Given the description of an element on the screen output the (x, y) to click on. 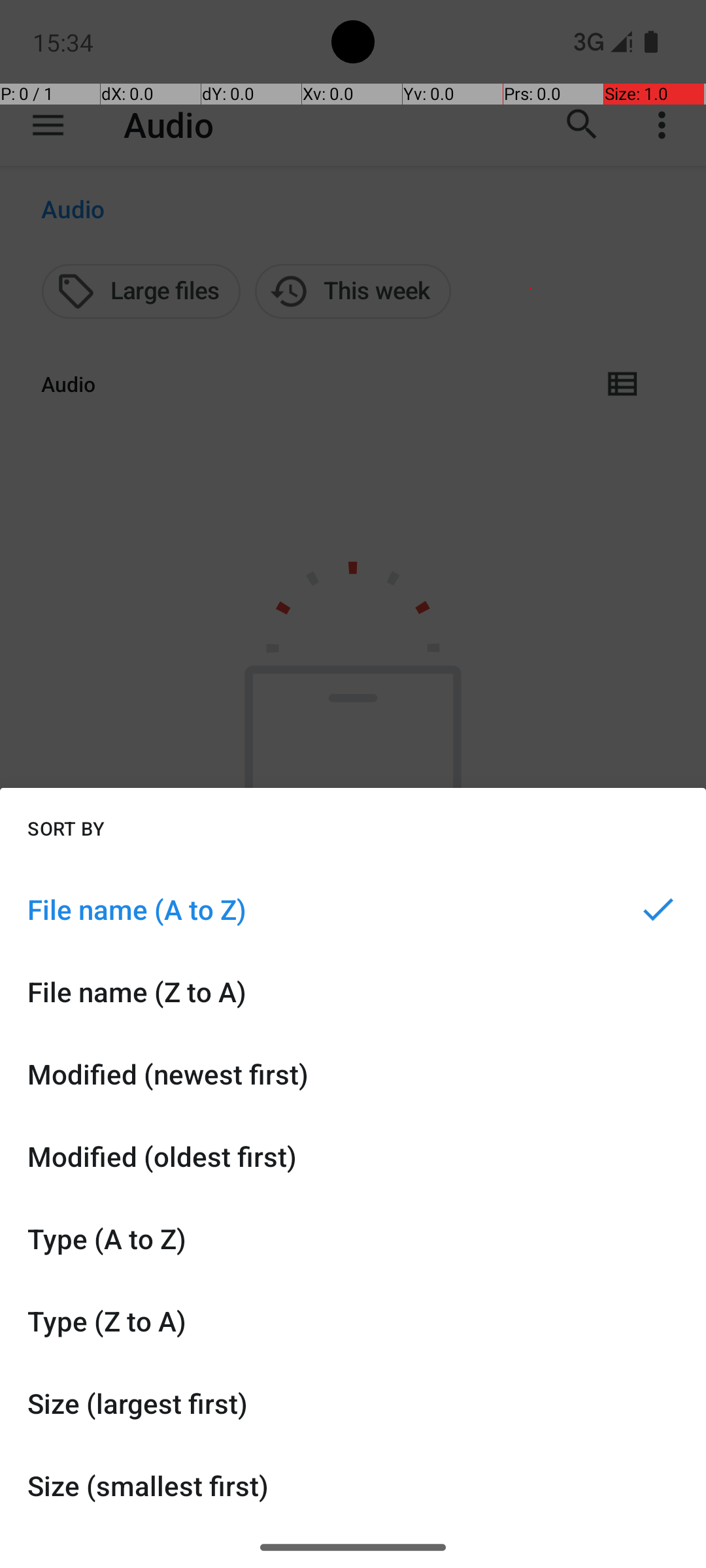
SORT BY Element type: android.widget.TextView (66, 827)
File name (A to Z) Element type: android.widget.CheckedTextView (353, 909)
File name (Z to A) Element type: android.widget.CheckedTextView (353, 991)
Modified (newest first) Element type: android.widget.CheckedTextView (353, 1073)
Modified (oldest first) Element type: android.widget.CheckedTextView (353, 1156)
Type (A to Z) Element type: android.widget.CheckedTextView (353, 1238)
Type (Z to A) Element type: android.widget.CheckedTextView (353, 1320)
Size (largest first) Element type: android.widget.CheckedTextView (353, 1403)
Size (smallest first) Element type: android.widget.CheckedTextView (353, 1485)
